Given the description of an element on the screen output the (x, y) to click on. 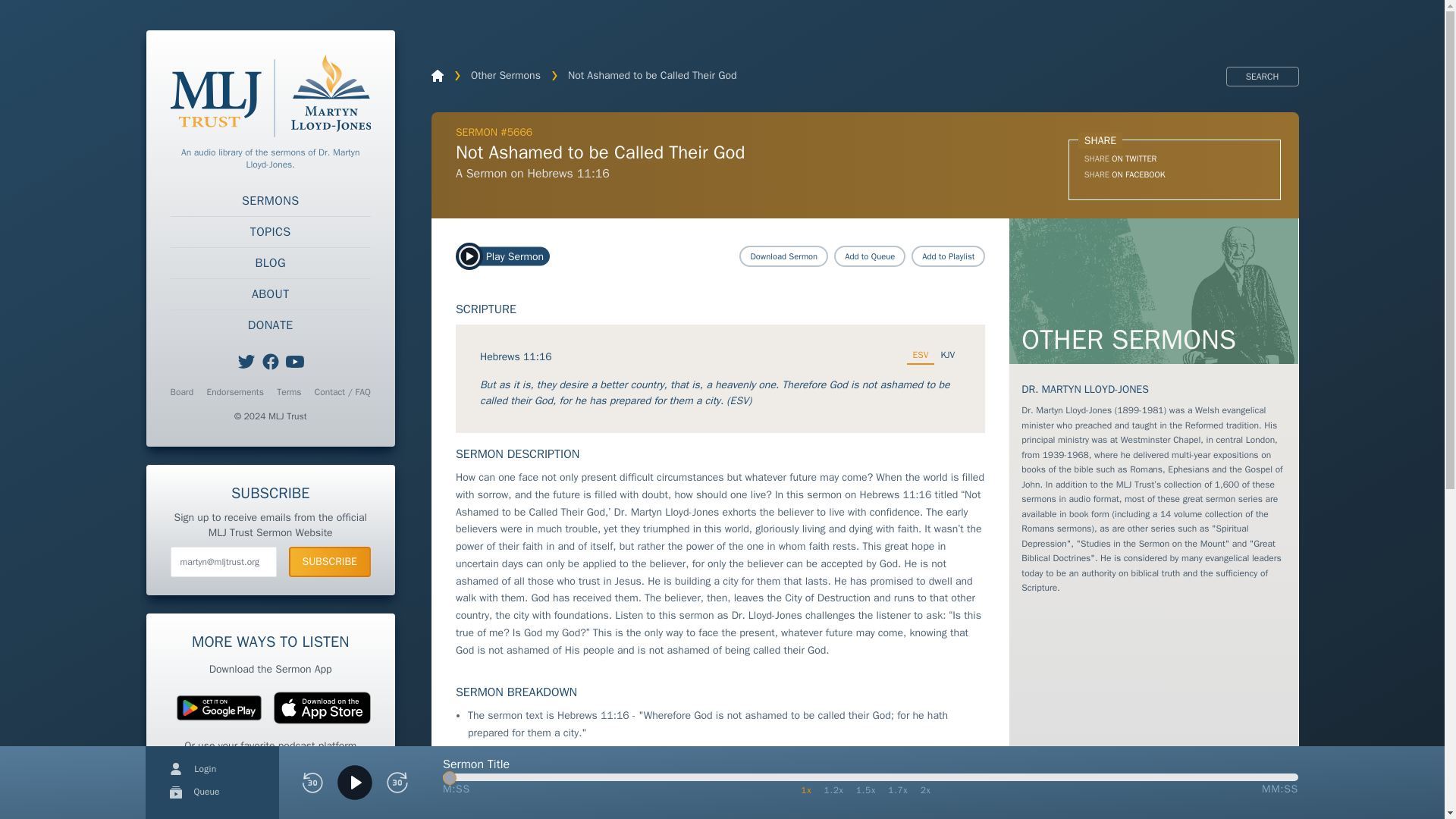
MLJ Trust on Facebook (270, 361)
Endorsements (234, 391)
Sermons on Other Sermons by Dr. Martyn Lloyd-Jones (1153, 290)
Board (181, 391)
SERMONS (269, 200)
Subscribe (328, 562)
Terms (288, 391)
Subscribe (328, 562)
TOPICS (269, 232)
MLJ Trust on YouTube (294, 361)
MLJ Trust on Twitter (246, 361)
ABOUT (269, 294)
DONATE (269, 325)
BLOG (269, 263)
